Given the description of an element on the screen output the (x, y) to click on. 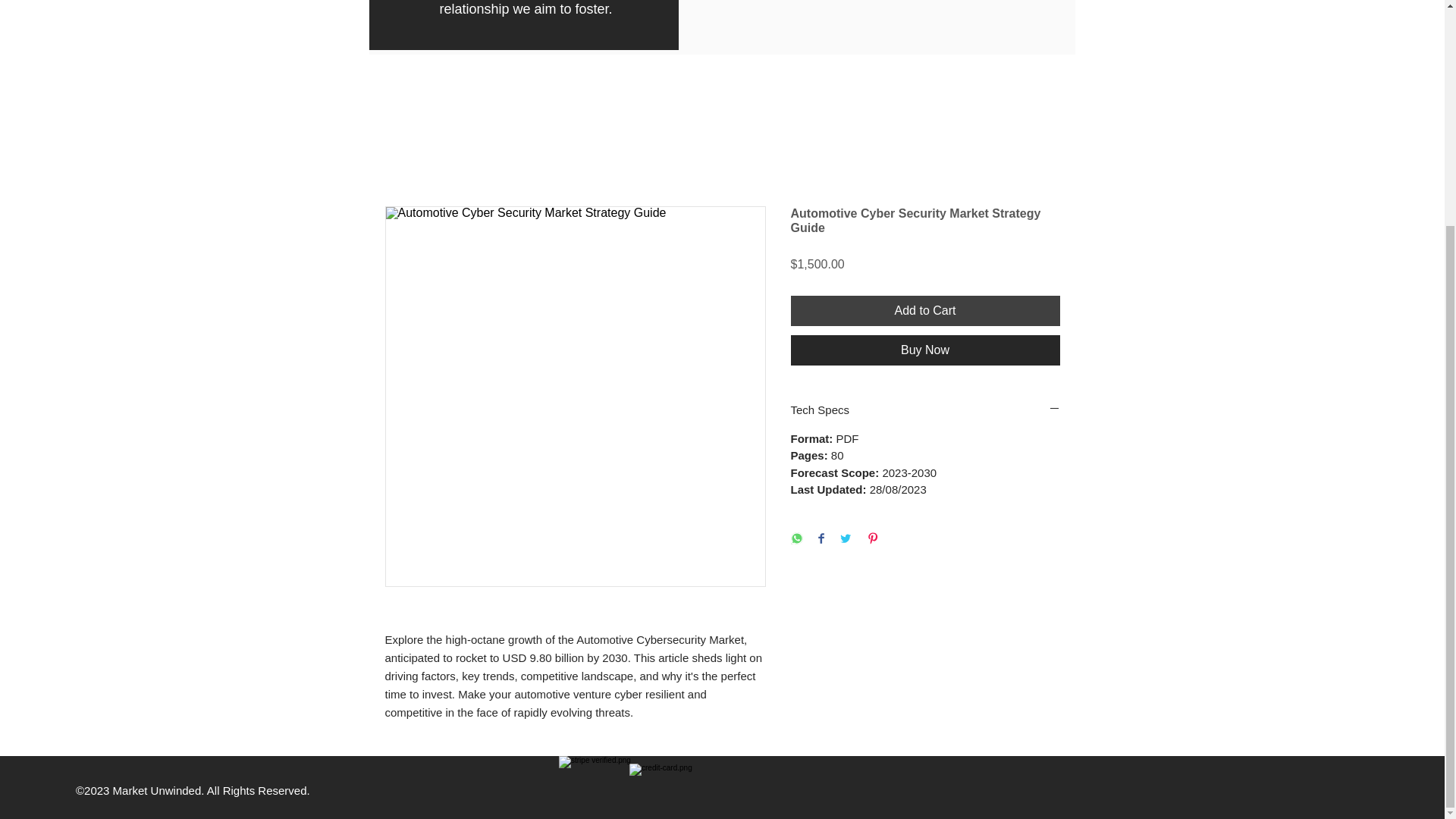
Add to Cart (924, 310)
Tech Specs (924, 409)
Buy Now (924, 349)
